Given the description of an element on the screen output the (x, y) to click on. 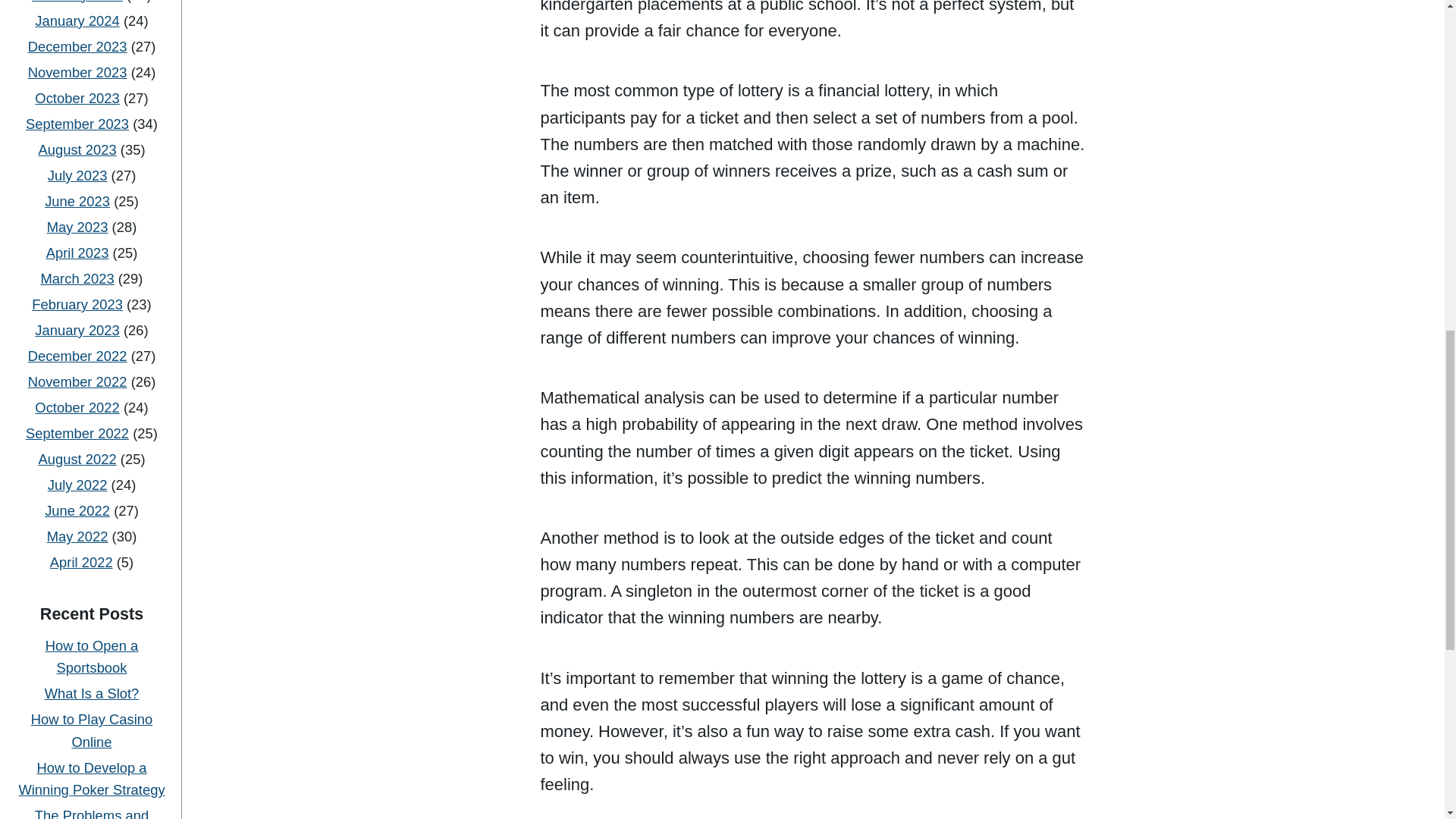
June 2022 (77, 14)
Gambling (92, 424)
keluaran sgp (91, 695)
The Problems and Benefits of the Lottery (92, 330)
How to Play Casino Online (91, 234)
What Is a Slot? (92, 197)
How to Open a Sportsbook (91, 160)
togel dana (91, 575)
How to Develop a Winning Poker Strategy (90, 282)
taruhan bola (91, 474)
